Given the description of an element on the screen output the (x, y) to click on. 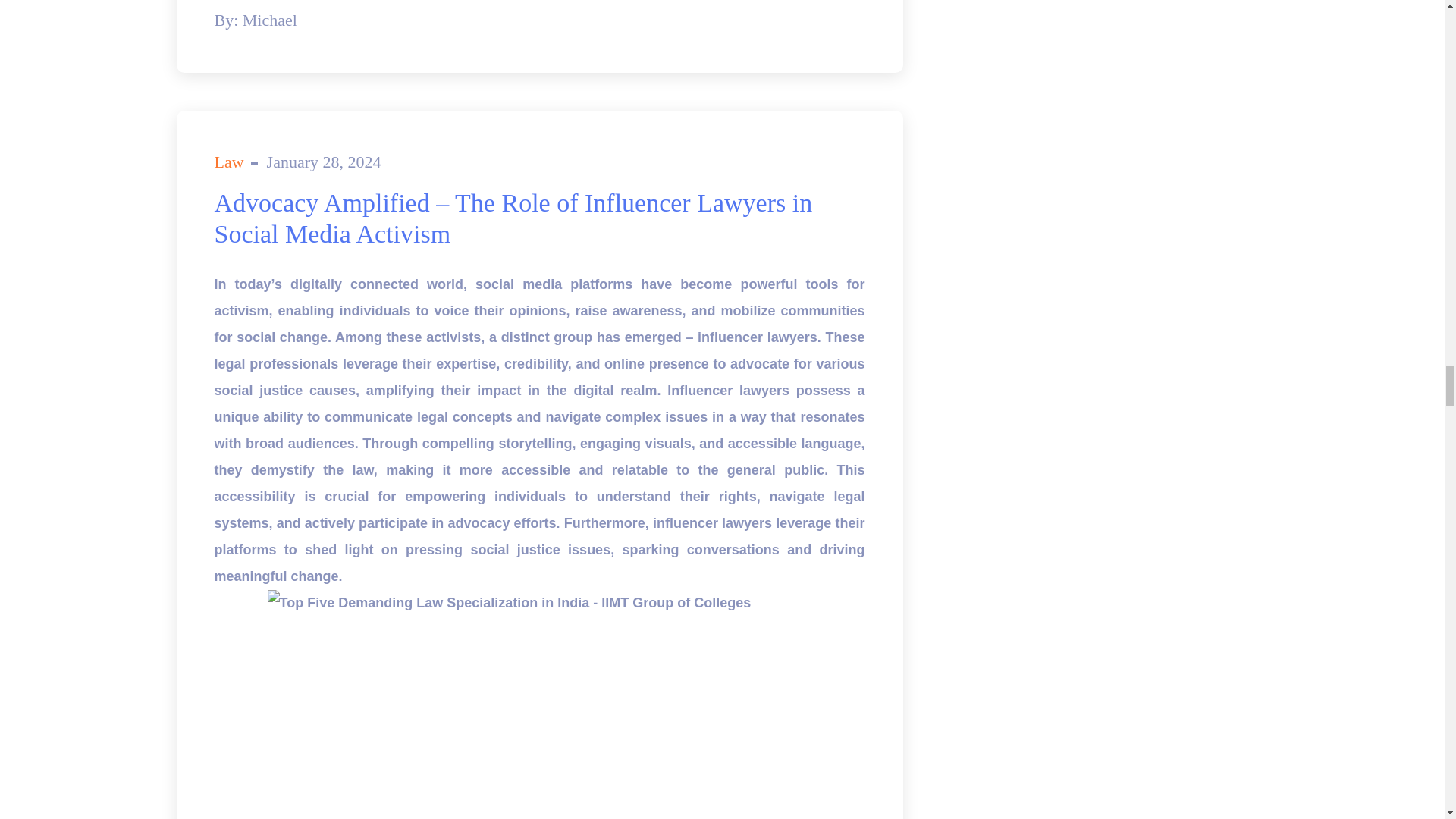
Michael (270, 19)
January 28, 2024 (323, 161)
Law (228, 161)
